Given the description of an element on the screen output the (x, y) to click on. 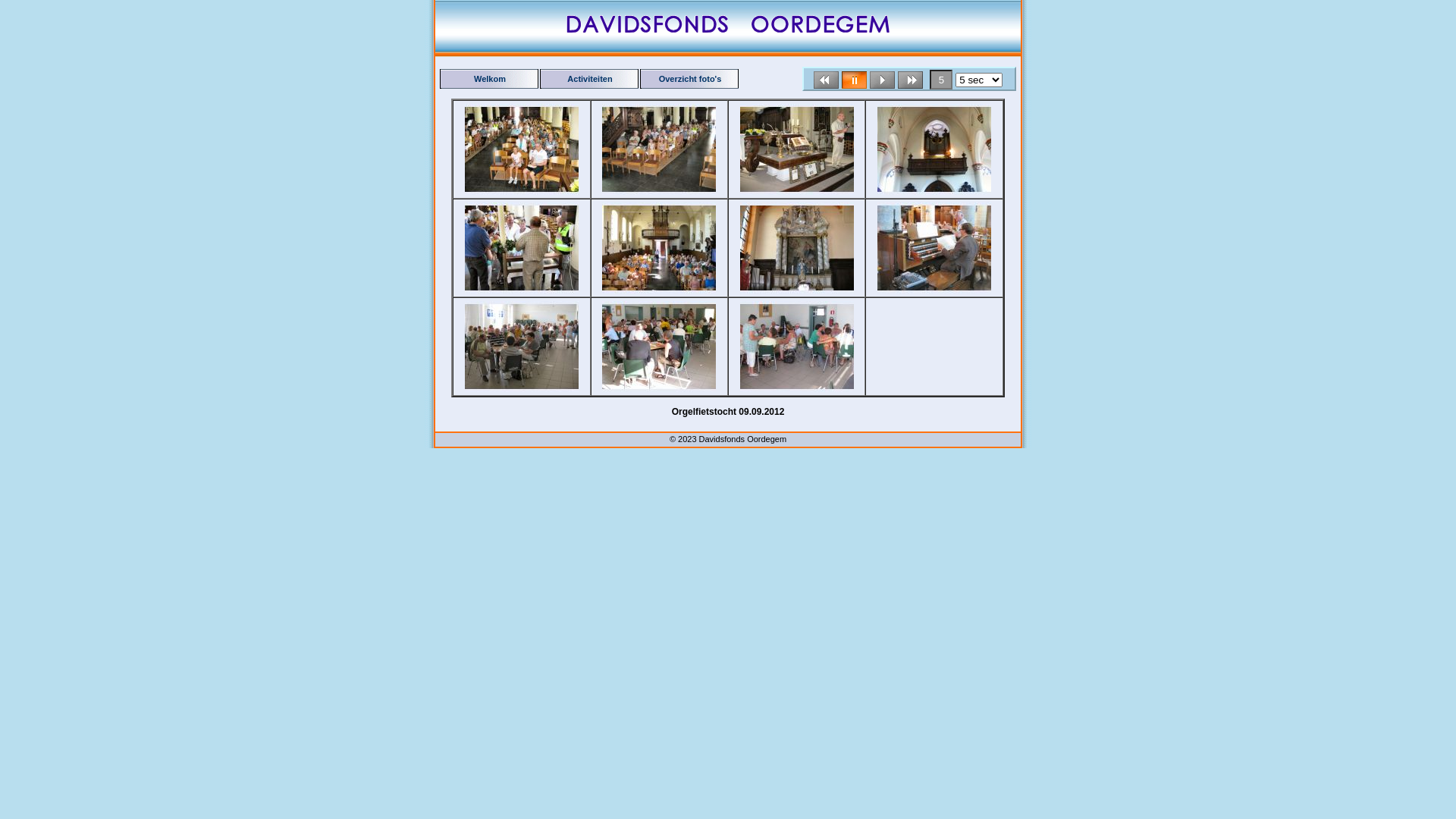
2 sec
5 sec
10 sec
20 sec Element type: text (978, 79)
Activiteiten Element type: text (589, 78)
Overzicht foto's Element type: text (690, 78)
Welkom Element type: text (489, 78)
